Given the description of an element on the screen output the (x, y) to click on. 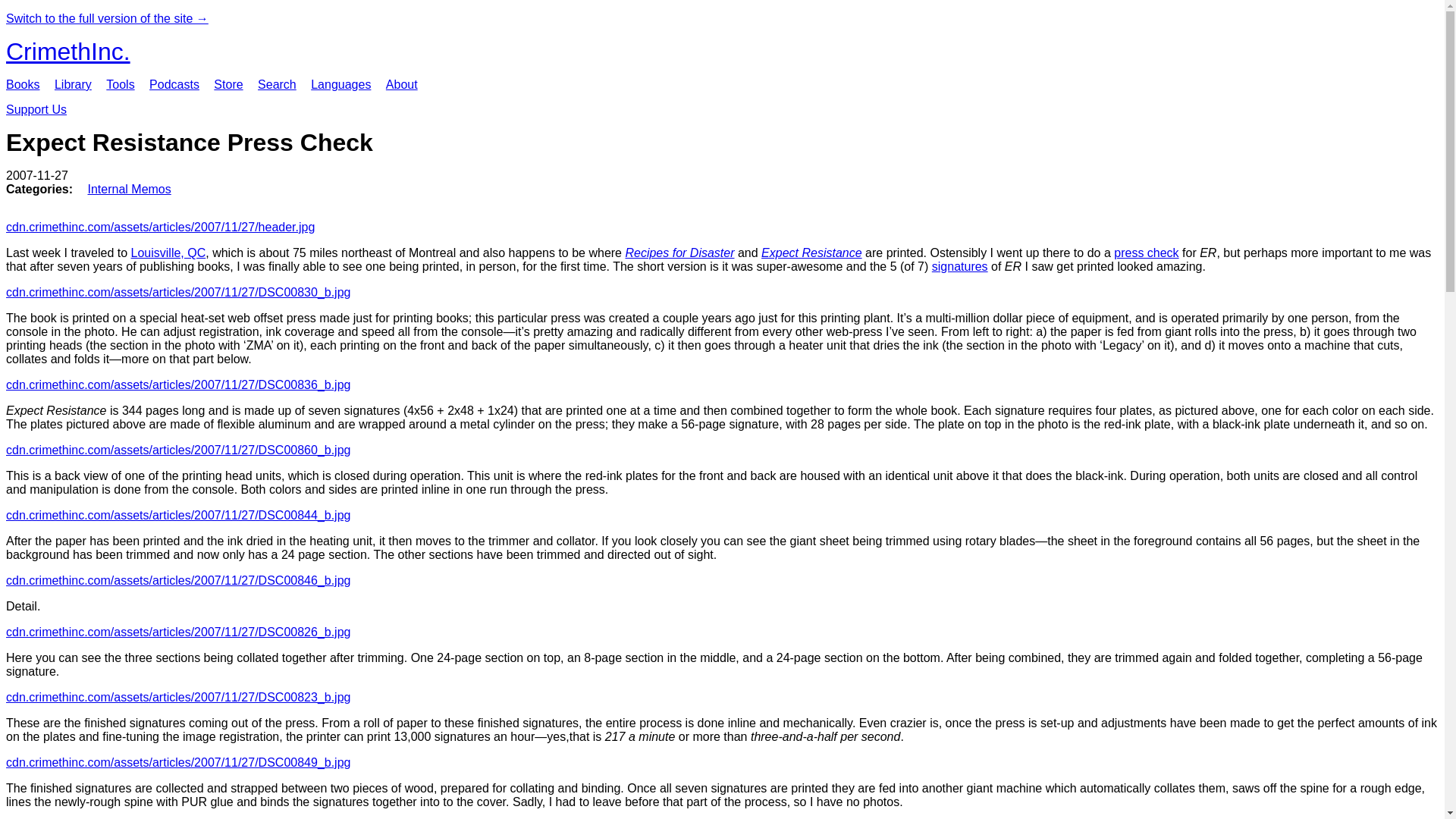
Support Us (35, 109)
Languages (341, 83)
Library (73, 83)
Store (228, 83)
Internal Memos (128, 188)
Recipes for Disaster (678, 252)
About (401, 83)
Books (22, 83)
Search (277, 83)
Tools (119, 83)
Louisville, QC (168, 252)
press check (1145, 252)
Podcasts (174, 83)
Expect Resistance (811, 252)
signatures (959, 266)
